Given the description of an element on the screen output the (x, y) to click on. 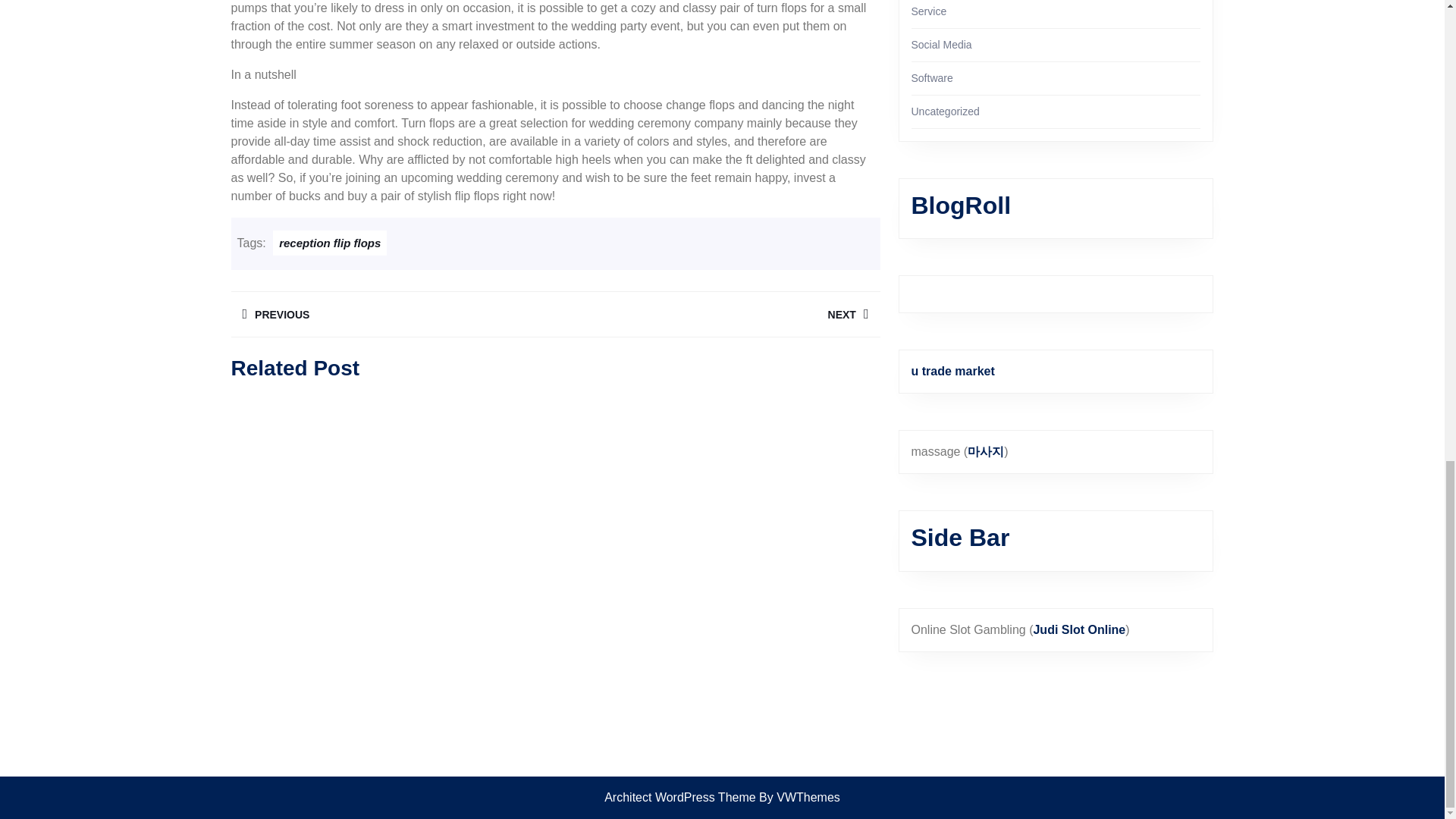
reception flip flops (392, 314)
